Given the description of an element on the screen output the (x, y) to click on. 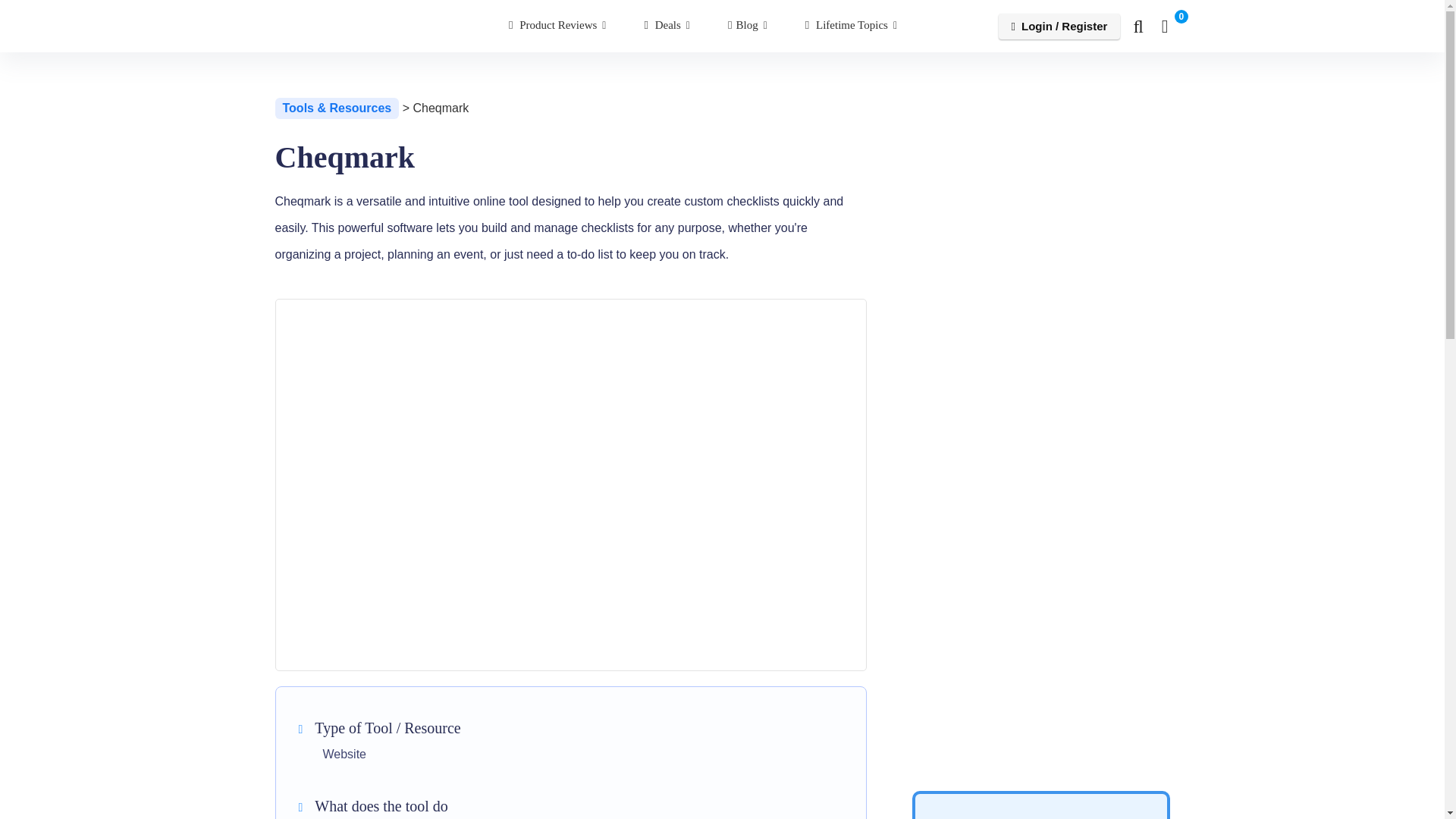
Lifetime Topics (851, 25)
Blog (748, 25)
Product Reviews (557, 25)
Deals (666, 25)
